Given the description of an element on the screen output the (x, y) to click on. 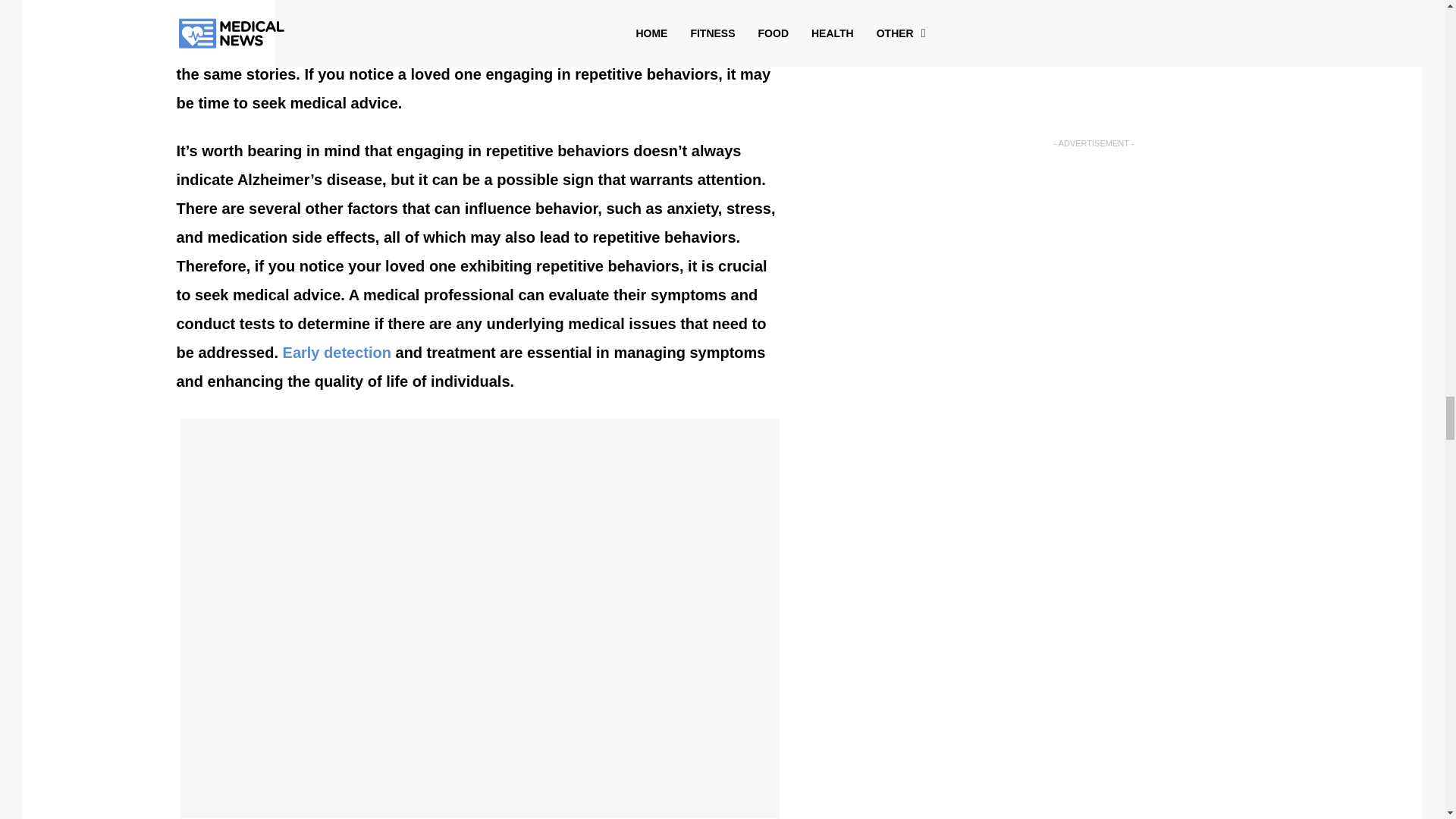
Early detection (336, 352)
